Given the description of an element on the screen output the (x, y) to click on. 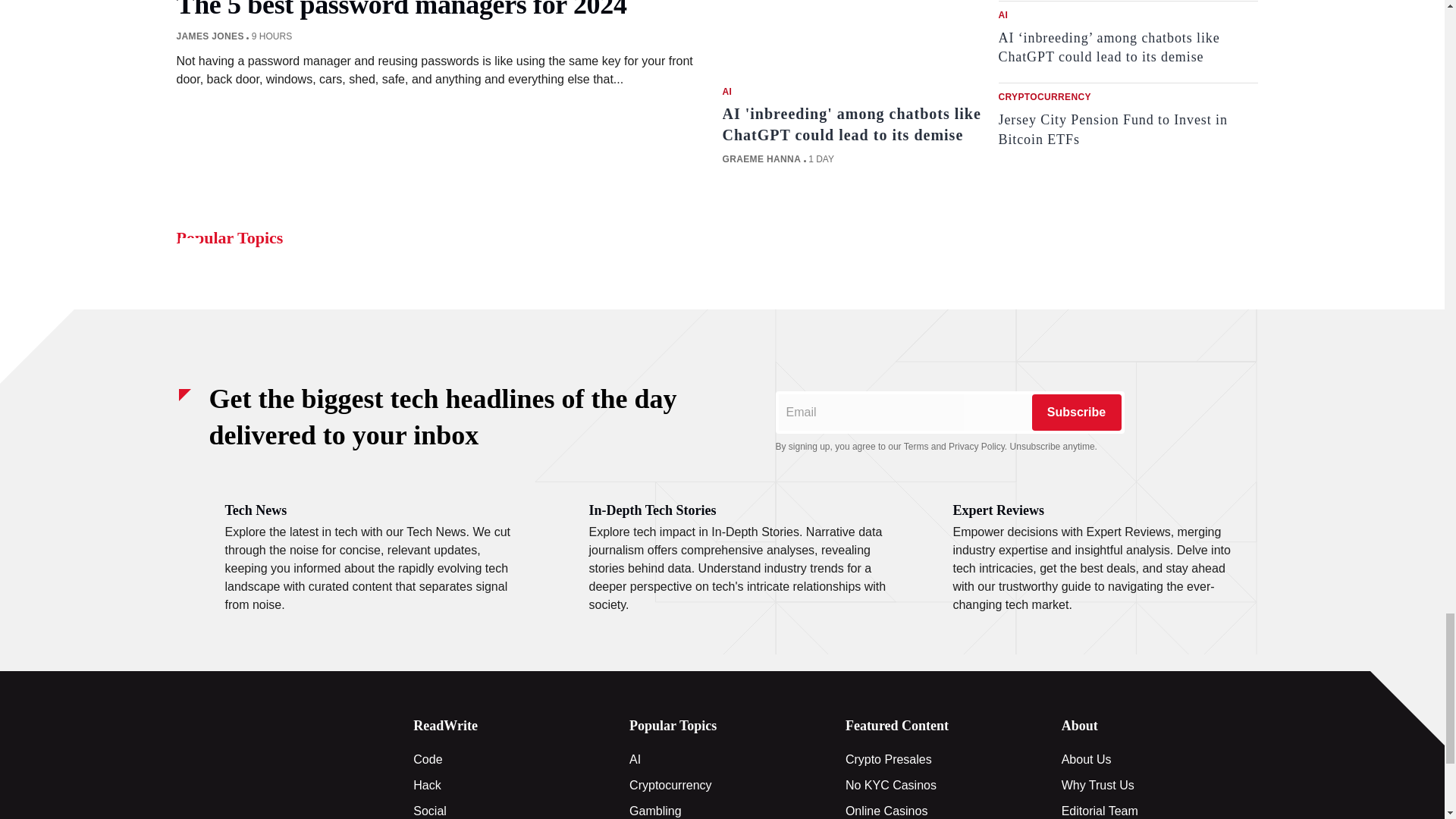
Subscribe (1075, 411)
